Given the description of an element on the screen output the (x, y) to click on. 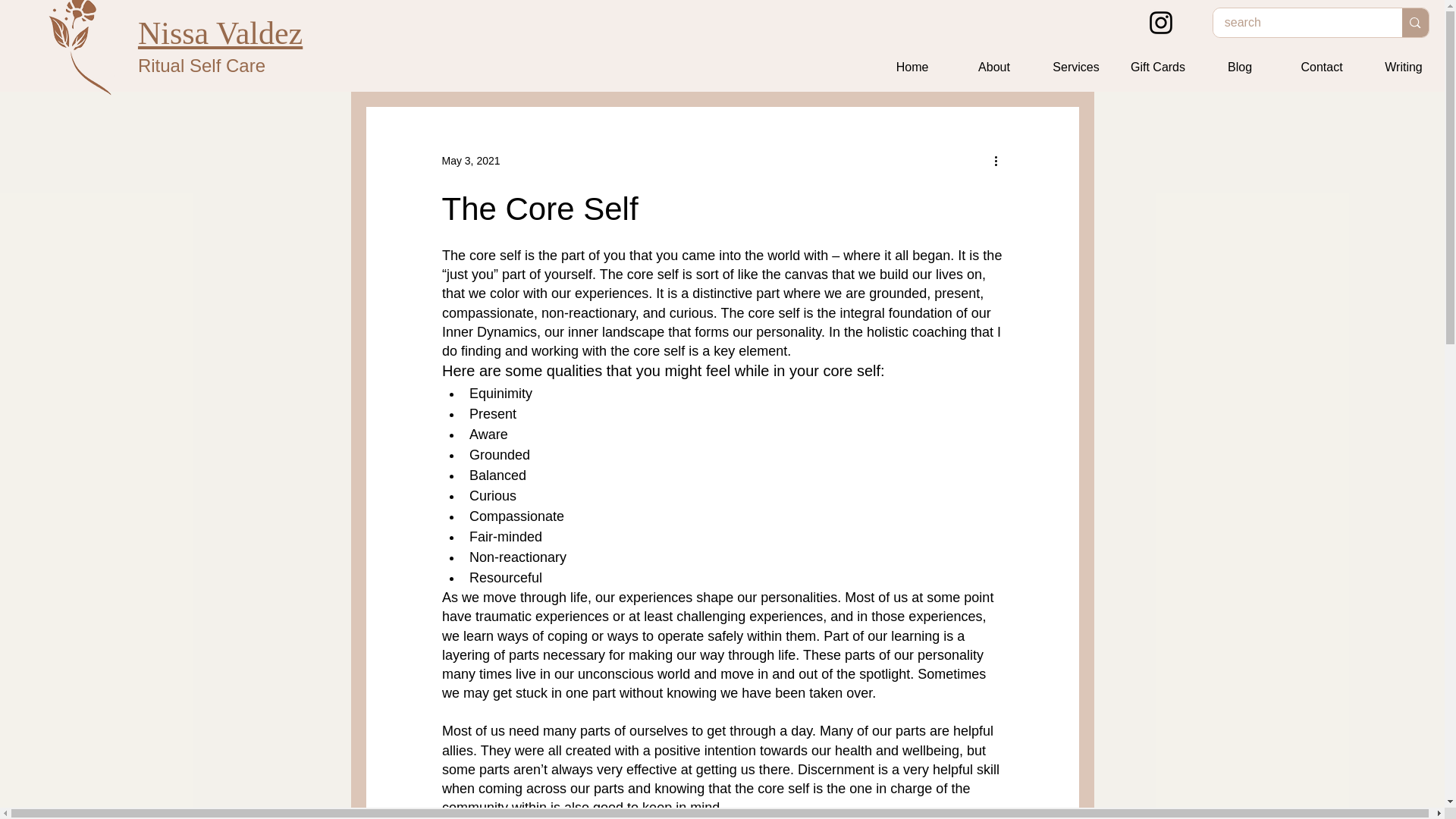
Writing (1403, 67)
Contact (1321, 67)
Gift Cards (1157, 67)
May 3, 2021 (470, 160)
Nissa Valdez (220, 32)
About (994, 67)
Home (911, 67)
Blog (1239, 67)
Services (1075, 67)
